Given the description of an element on the screen output the (x, y) to click on. 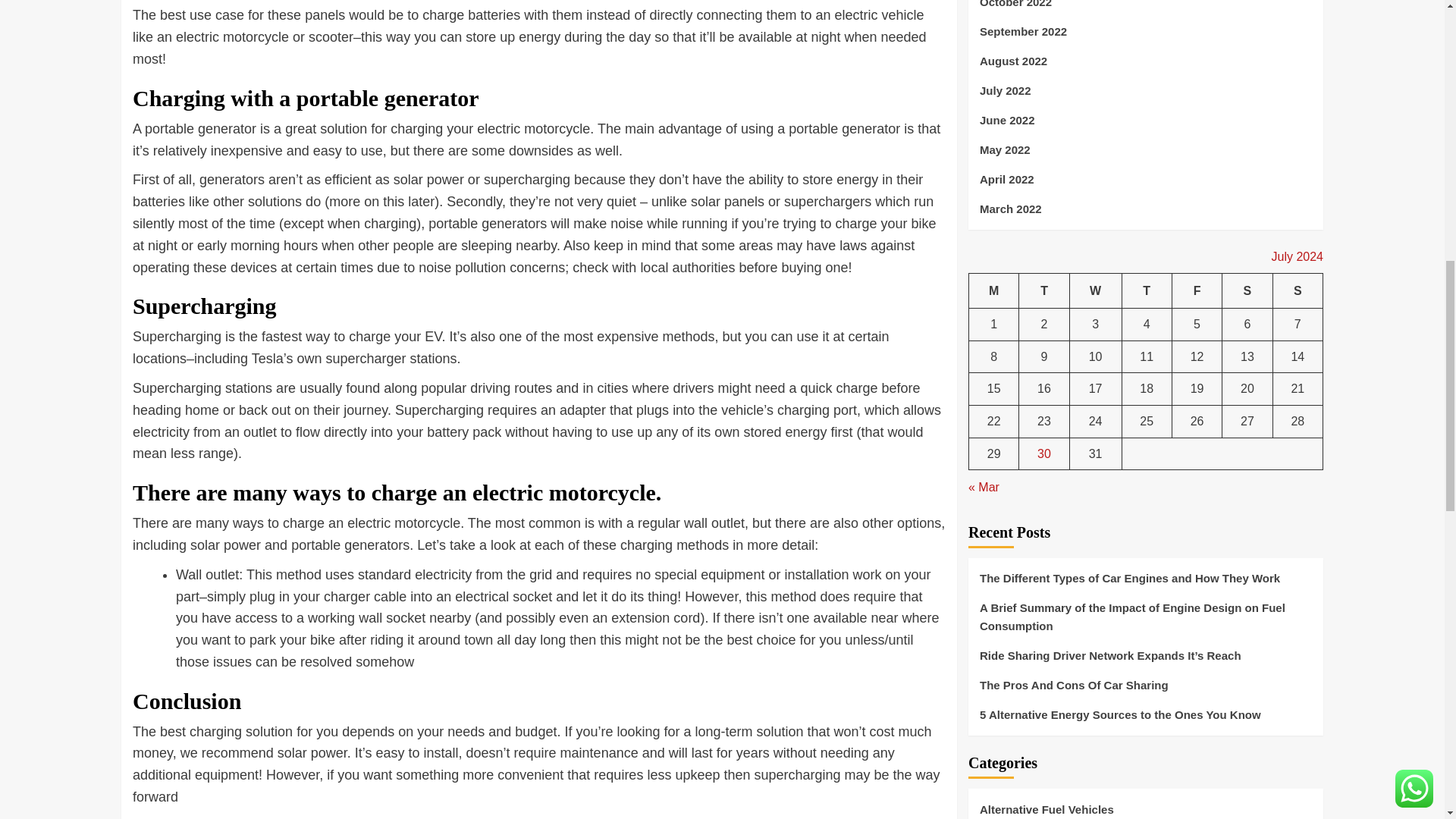
Thursday (1146, 290)
Wednesday (1094, 290)
Monday (994, 290)
Friday (1196, 290)
Tuesday (1043, 290)
